Given the description of an element on the screen output the (x, y) to click on. 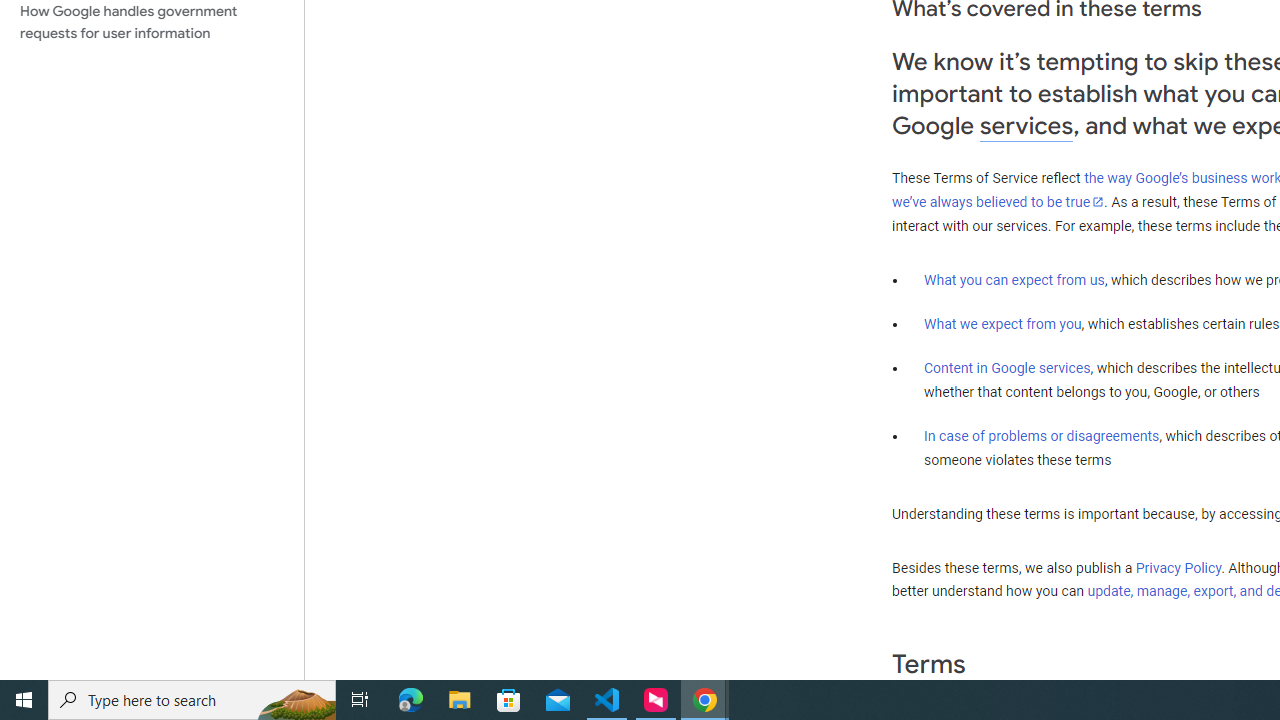
What you can expect from us (1014, 279)
What we expect from you (1002, 323)
services (1026, 125)
In case of problems or disagreements (1041, 435)
Content in Google services (1007, 368)
